Given the description of an element on the screen output the (x, y) to click on. 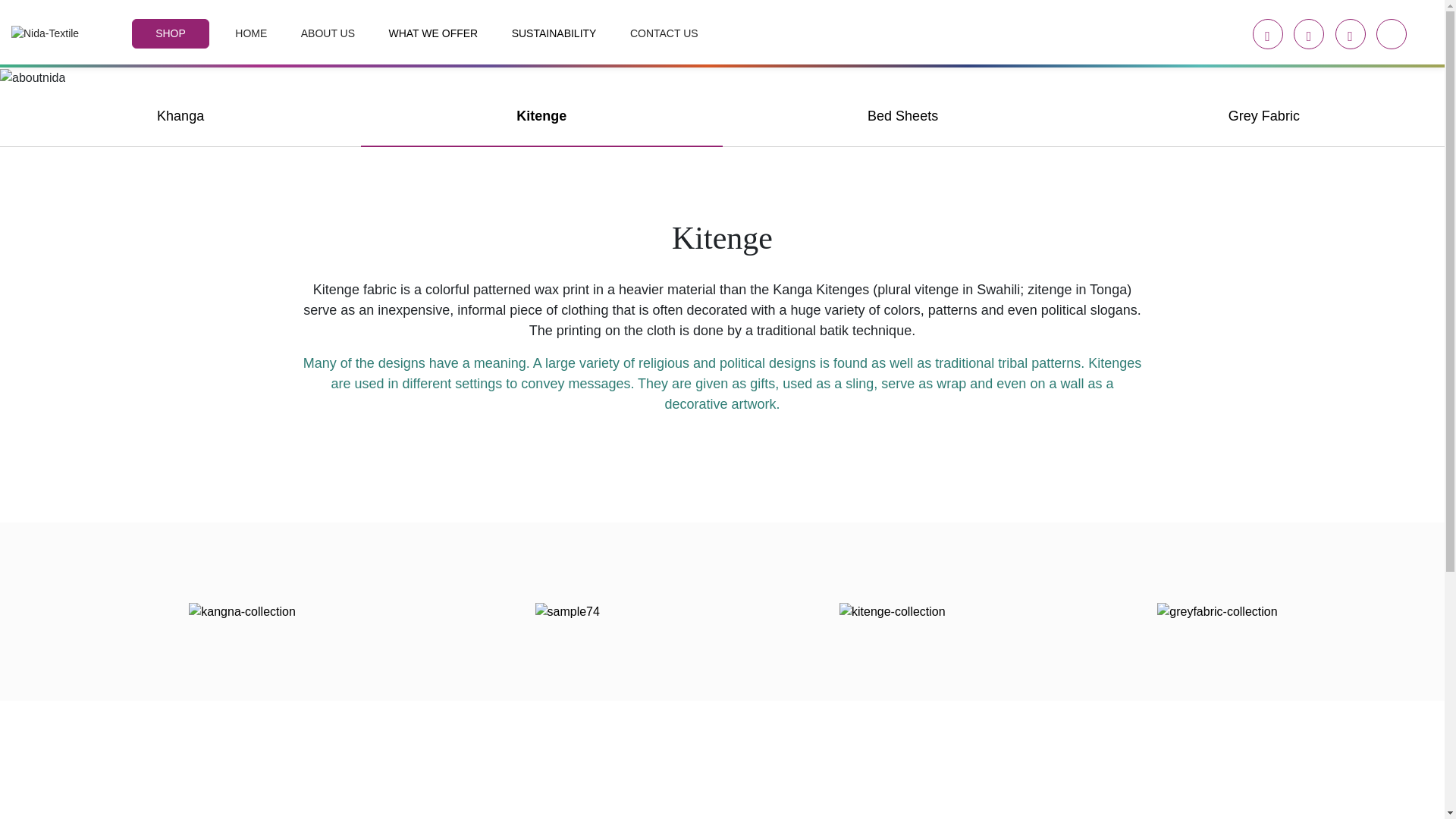
HOME (250, 33)
ABOUT US (328, 33)
WHAT WE OFFER (432, 33)
CONTACT US (664, 33)
SHOP (170, 33)
SUSTAINABILITY (554, 33)
